Given the description of an element on the screen output the (x, y) to click on. 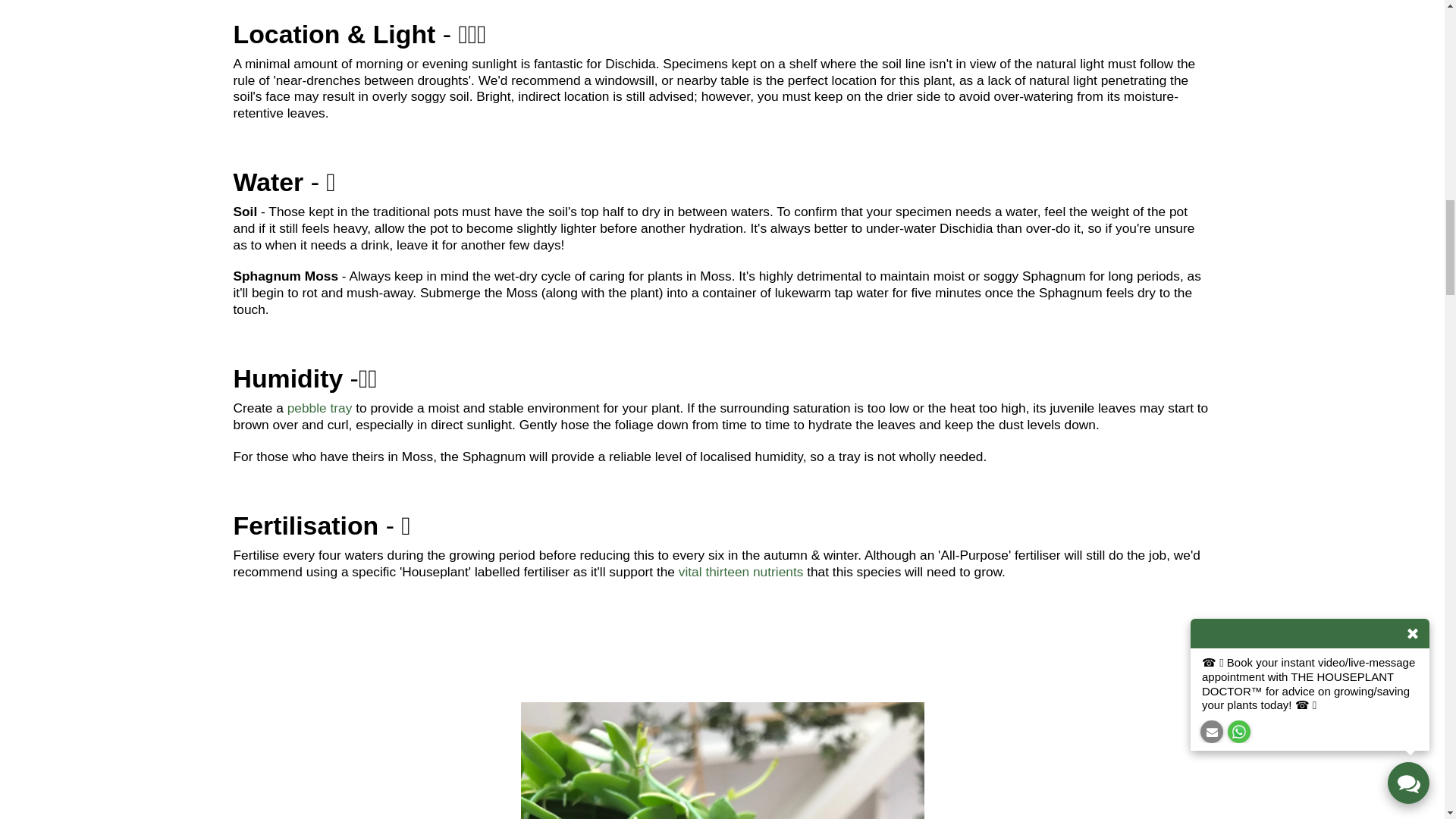
pebble tray (319, 407)
